Given the description of an element on the screen output the (x, y) to click on. 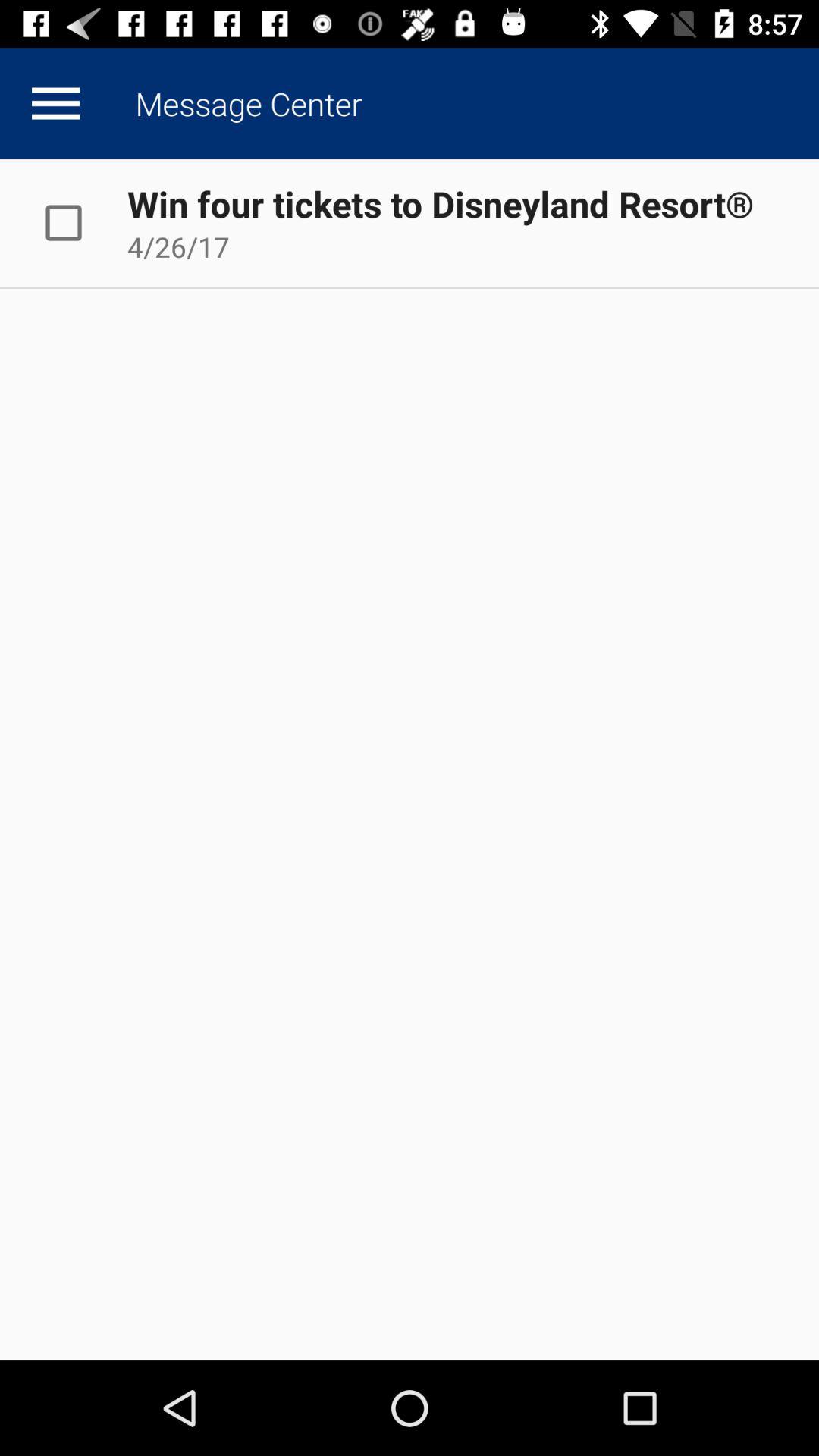
jump until win four tickets icon (440, 203)
